Given the description of an element on the screen output the (x, y) to click on. 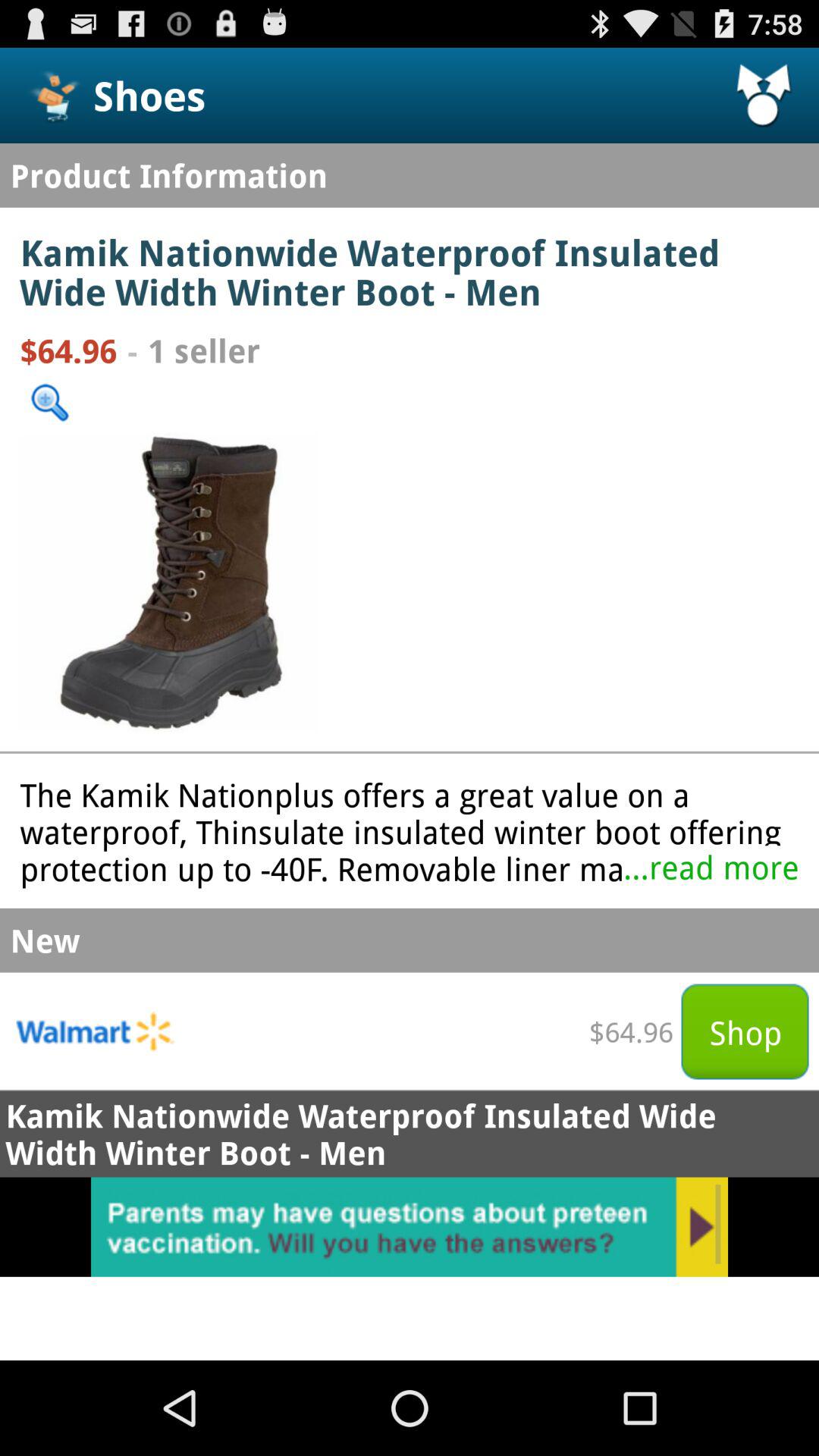
search option (49, 402)
